Given the description of an element on the screen output the (x, y) to click on. 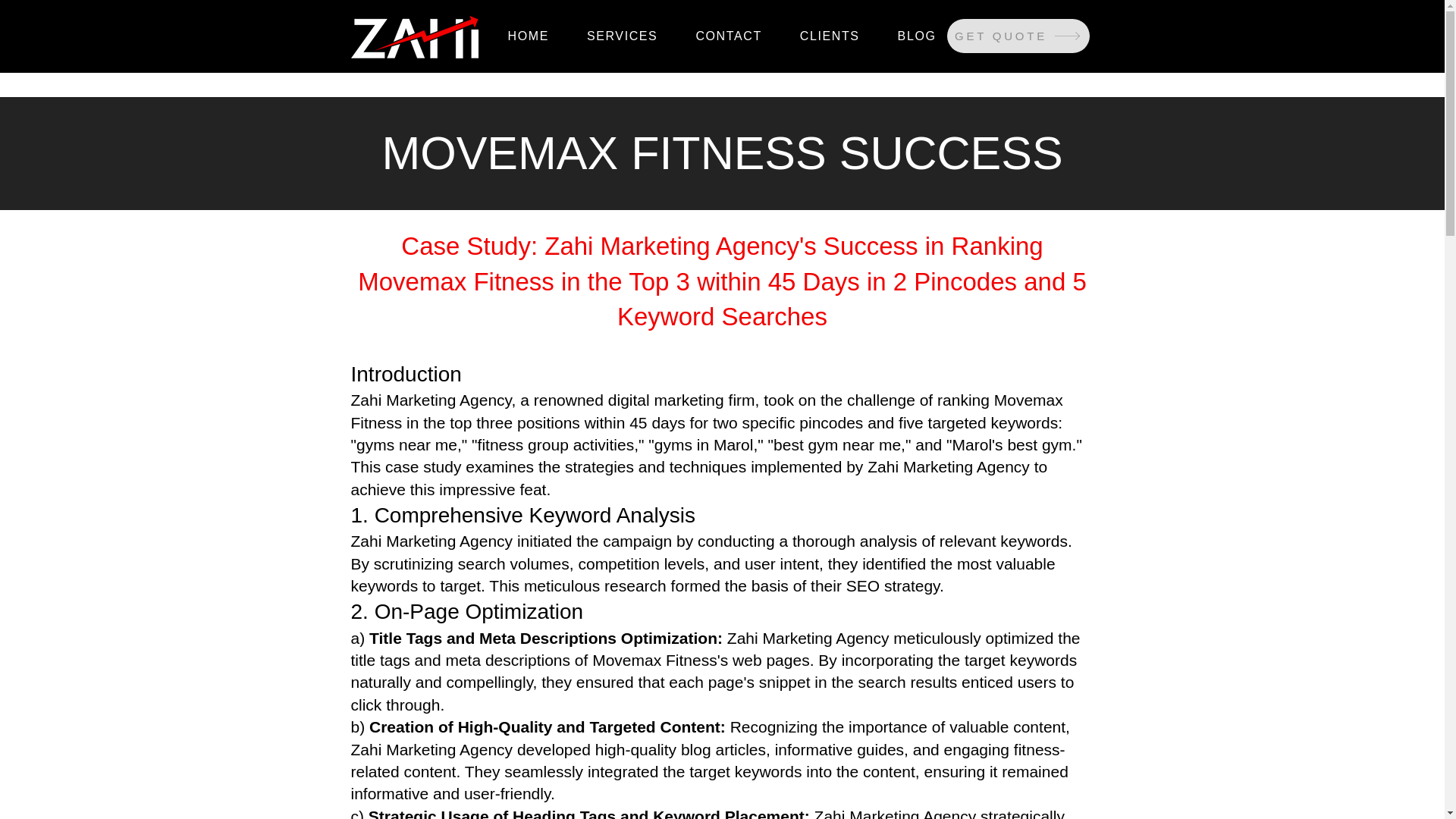
SERVICES (621, 36)
BLOG (917, 36)
CONTACT (728, 36)
GET QUOTE (1017, 35)
HOME (528, 36)
CLIENTS (830, 36)
